Given the description of an element on the screen output the (x, y) to click on. 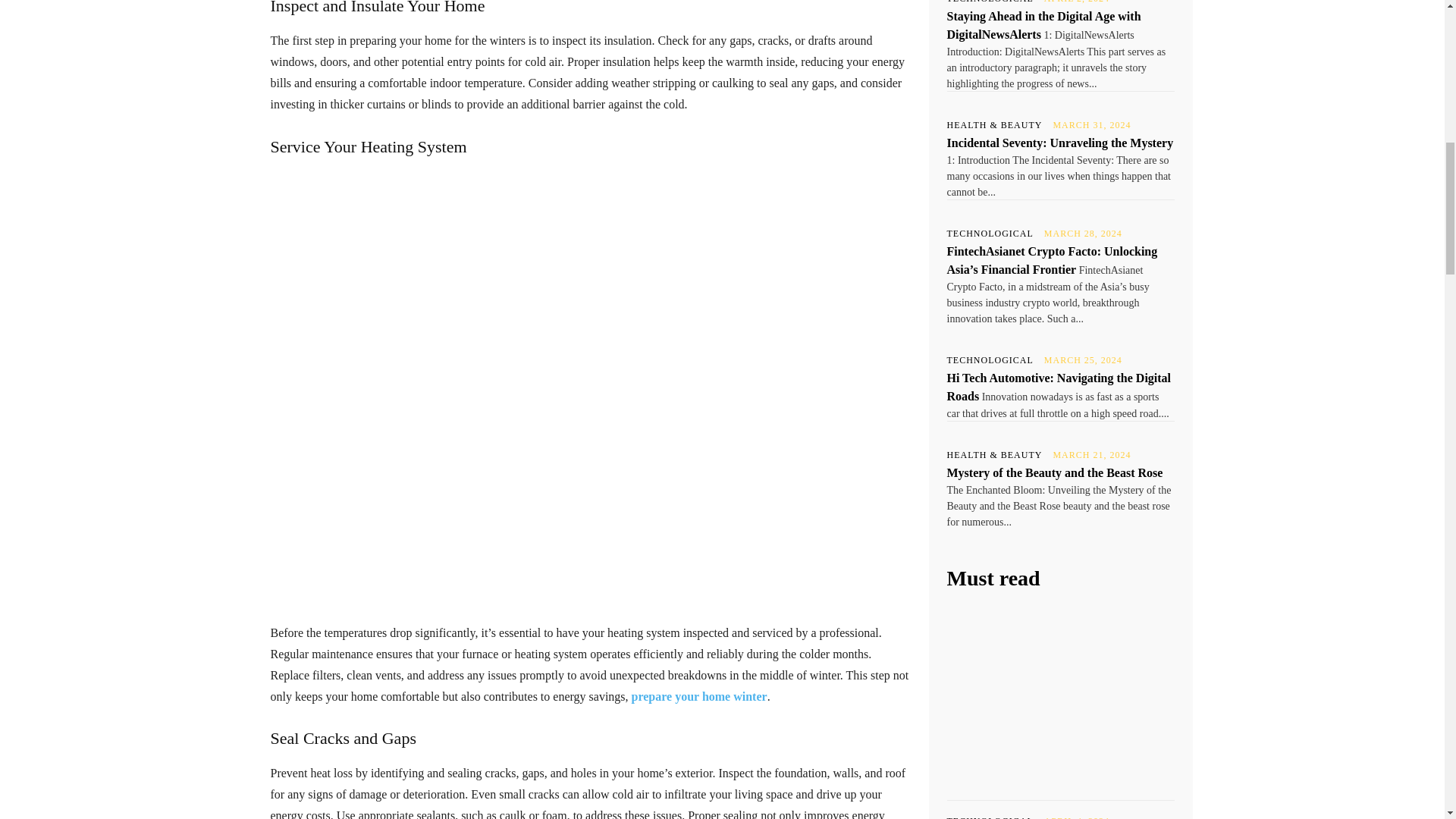
prepare your home winter (699, 696)
